Given the description of an element on the screen output the (x, y) to click on. 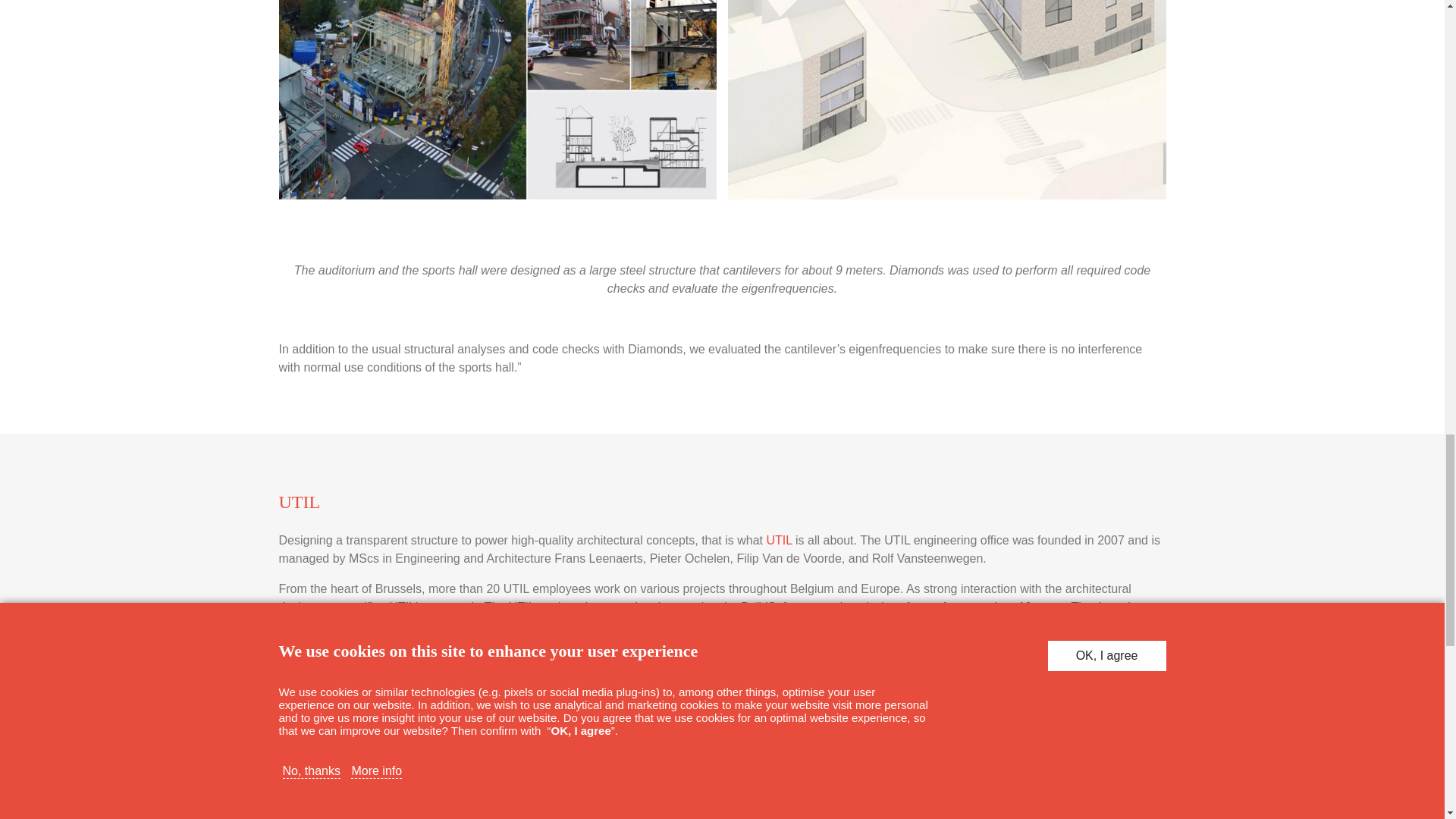
UTIL (779, 540)
